Given the description of an element on the screen output the (x, y) to click on. 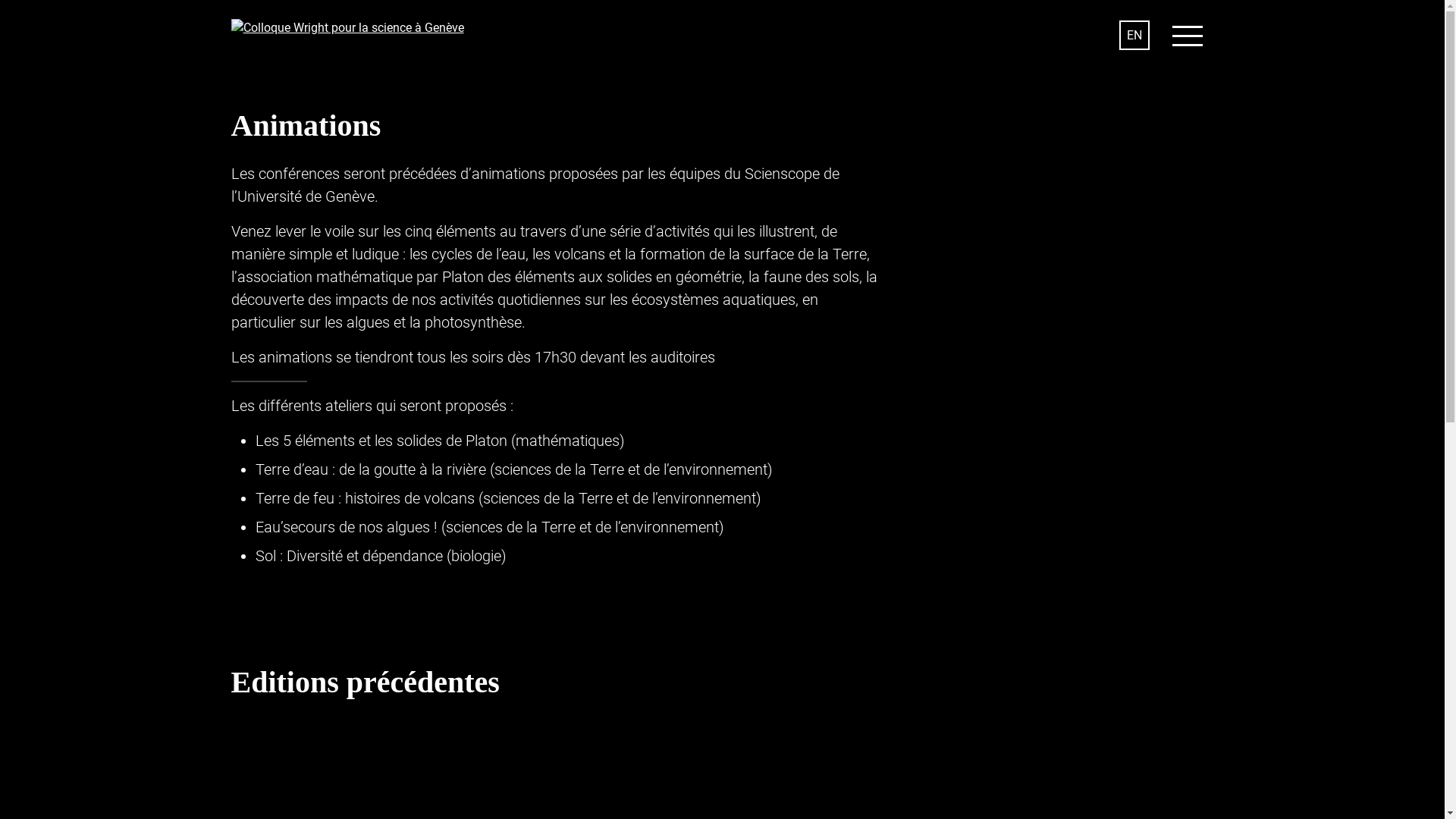
EN Element type: text (1134, 35)
